Given the description of an element on the screen output the (x, y) to click on. 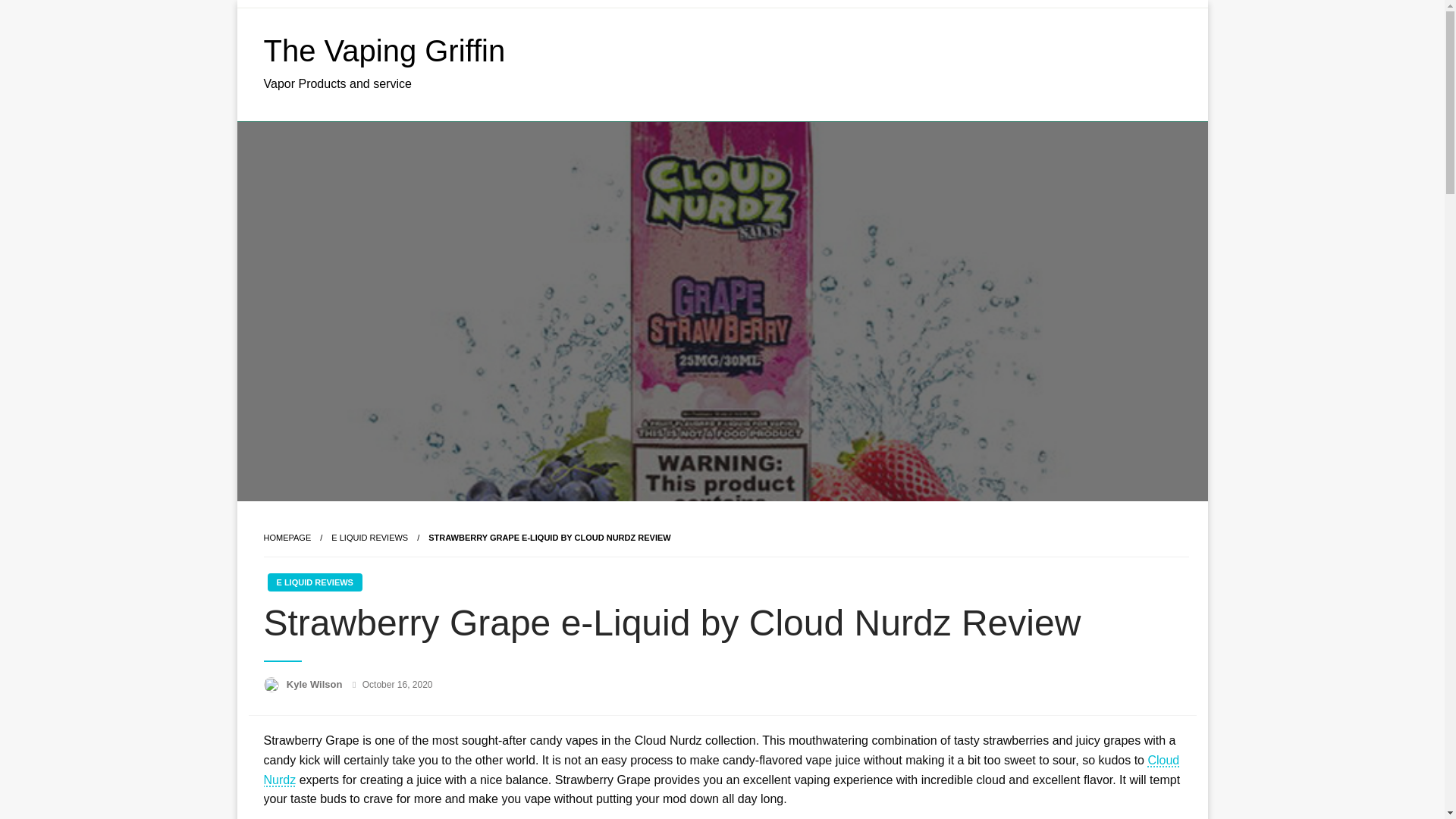
Homepage (287, 537)
E LIQUID REVIEWS (369, 537)
E Liquid Reviews (369, 537)
HOMEPAGE (287, 537)
Kyle Wilson (315, 684)
Cloud Nurdz (721, 769)
Strawberry Grape e-Liquid by Cloud Nurdz Review (548, 537)
The Vaping Griffin (384, 50)
E LIQUID REVIEWS (313, 582)
October 16, 2020 (397, 684)
